Given the description of an element on the screen output the (x, y) to click on. 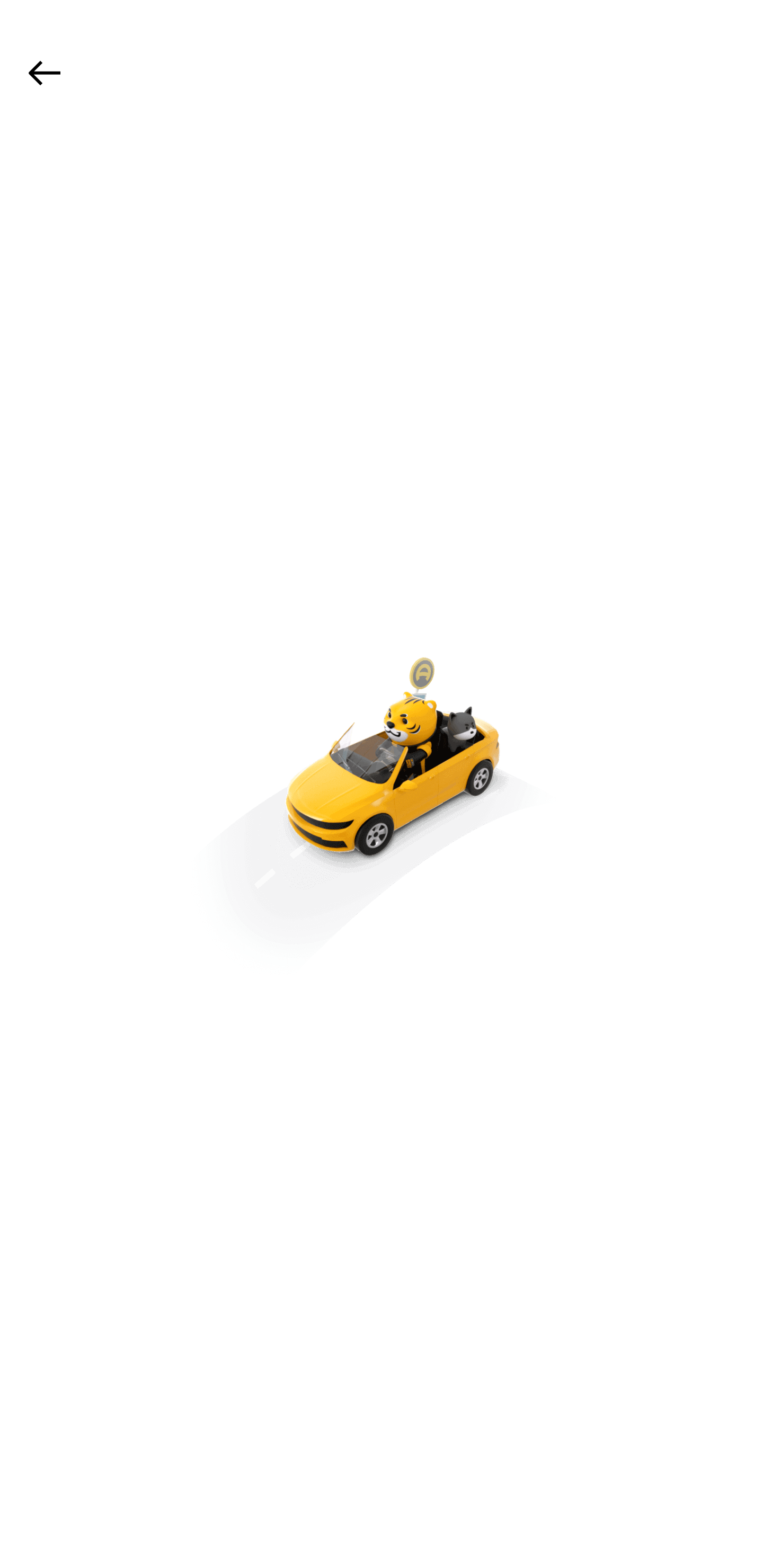
 (41, 72)
